Given the description of an element on the screen output the (x, y) to click on. 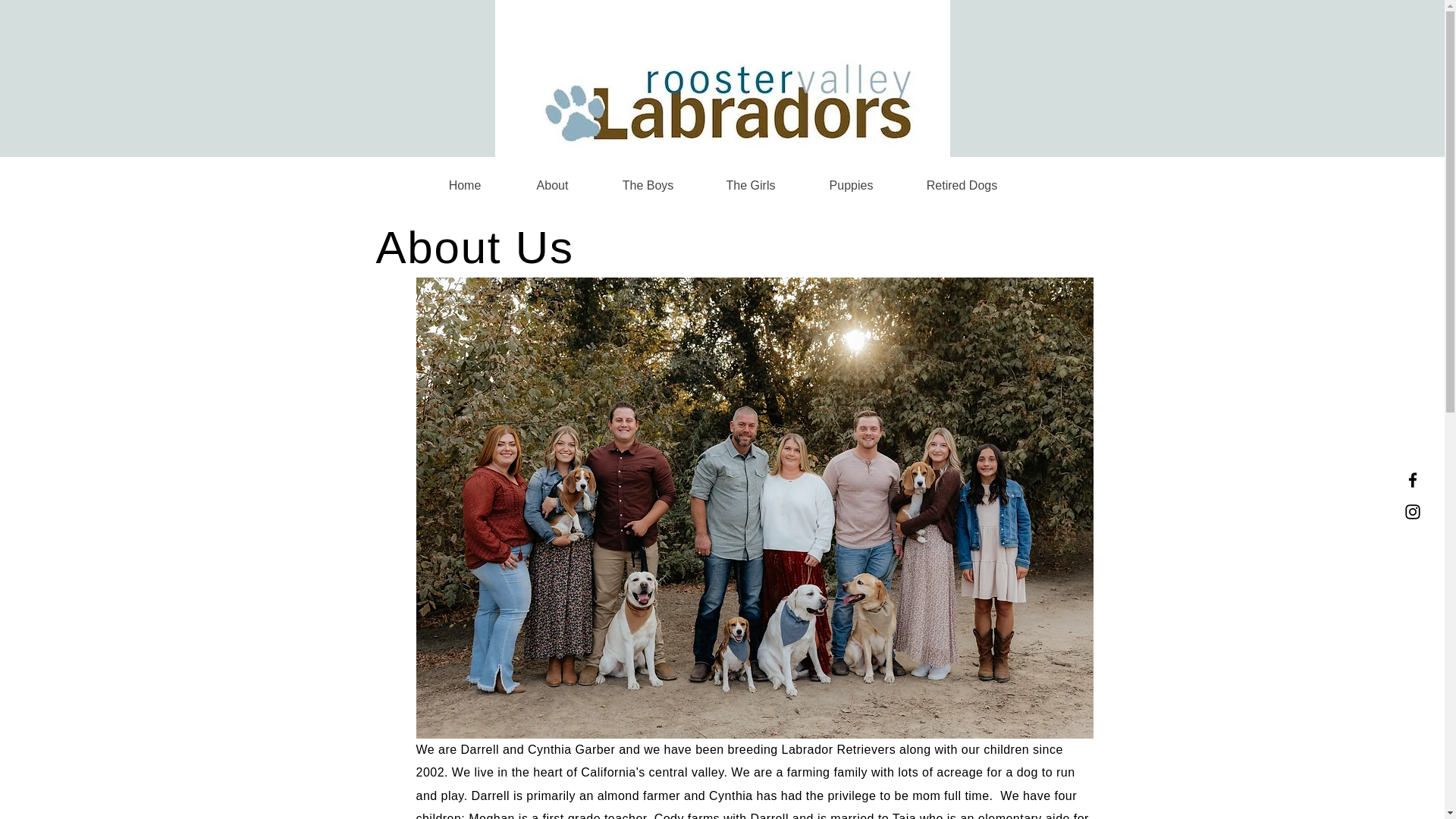
Retired Dogs (962, 185)
Puppies (851, 185)
Home (465, 185)
The Girls (750, 185)
About (551, 185)
The Boys (646, 185)
